Given the description of an element on the screen output the (x, y) to click on. 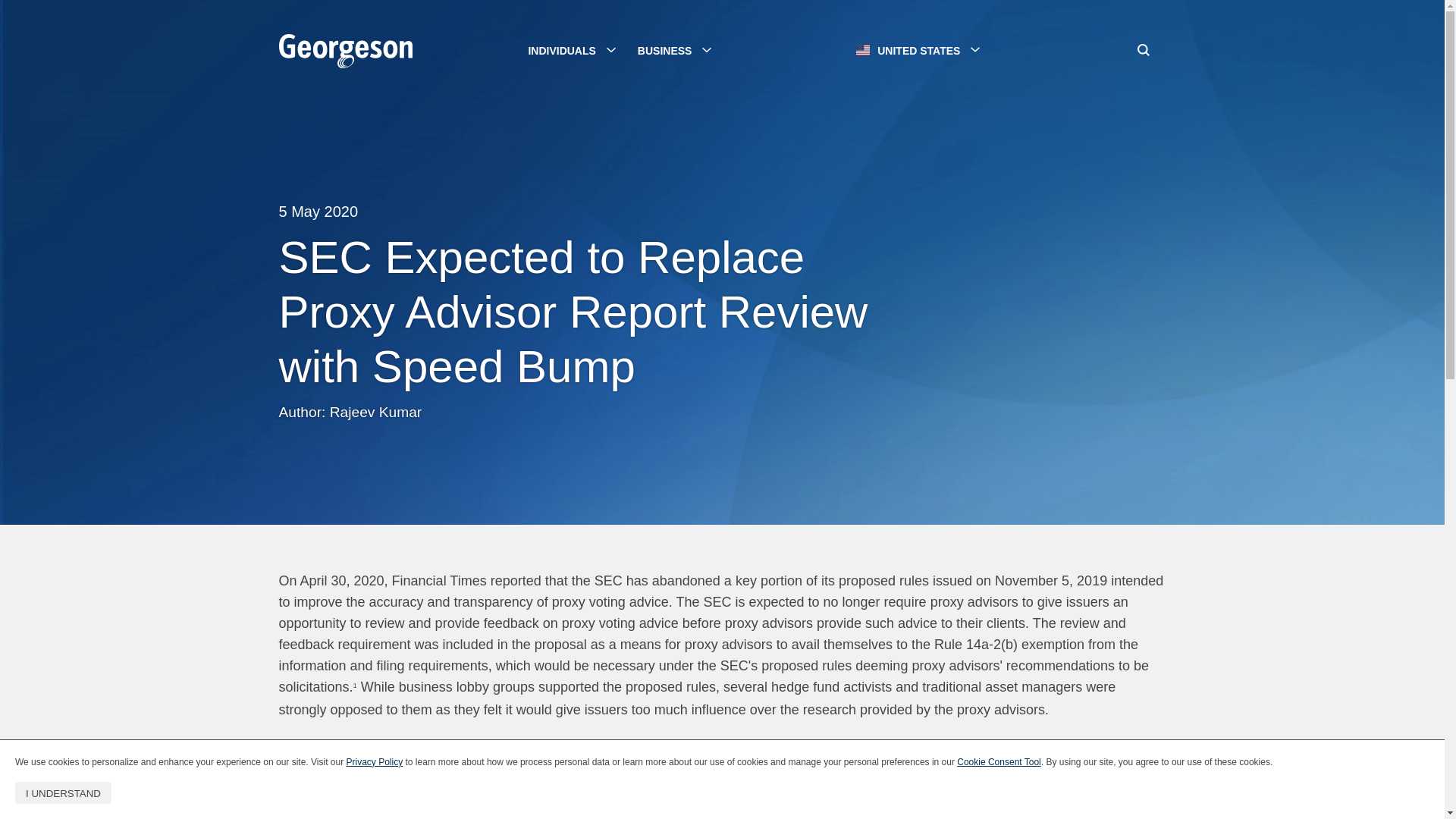
BUSINESS (674, 50)
INDIVIDUALS (571, 50)
United States (346, 53)
UNITED STATES (921, 50)
